Given the description of an element on the screen output the (x, y) to click on. 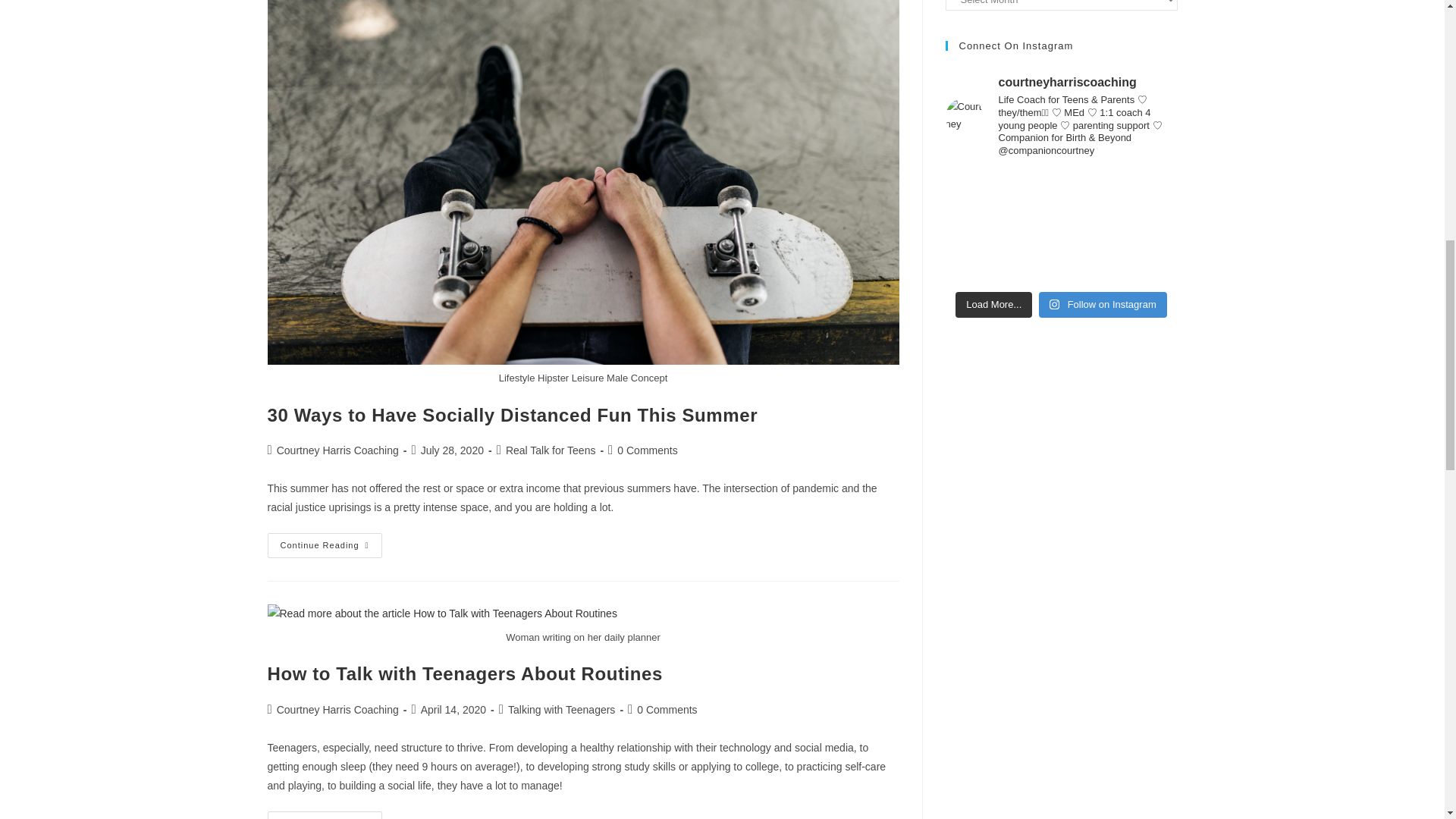
Courtney Harris Coaching (337, 450)
30 Ways to Have Socially Distanced Fun This Summer (511, 414)
Posts by Courtney Harris Coaching (337, 450)
Posts by Courtney Harris Coaching (337, 709)
